Given the description of an element on the screen output the (x, y) to click on. 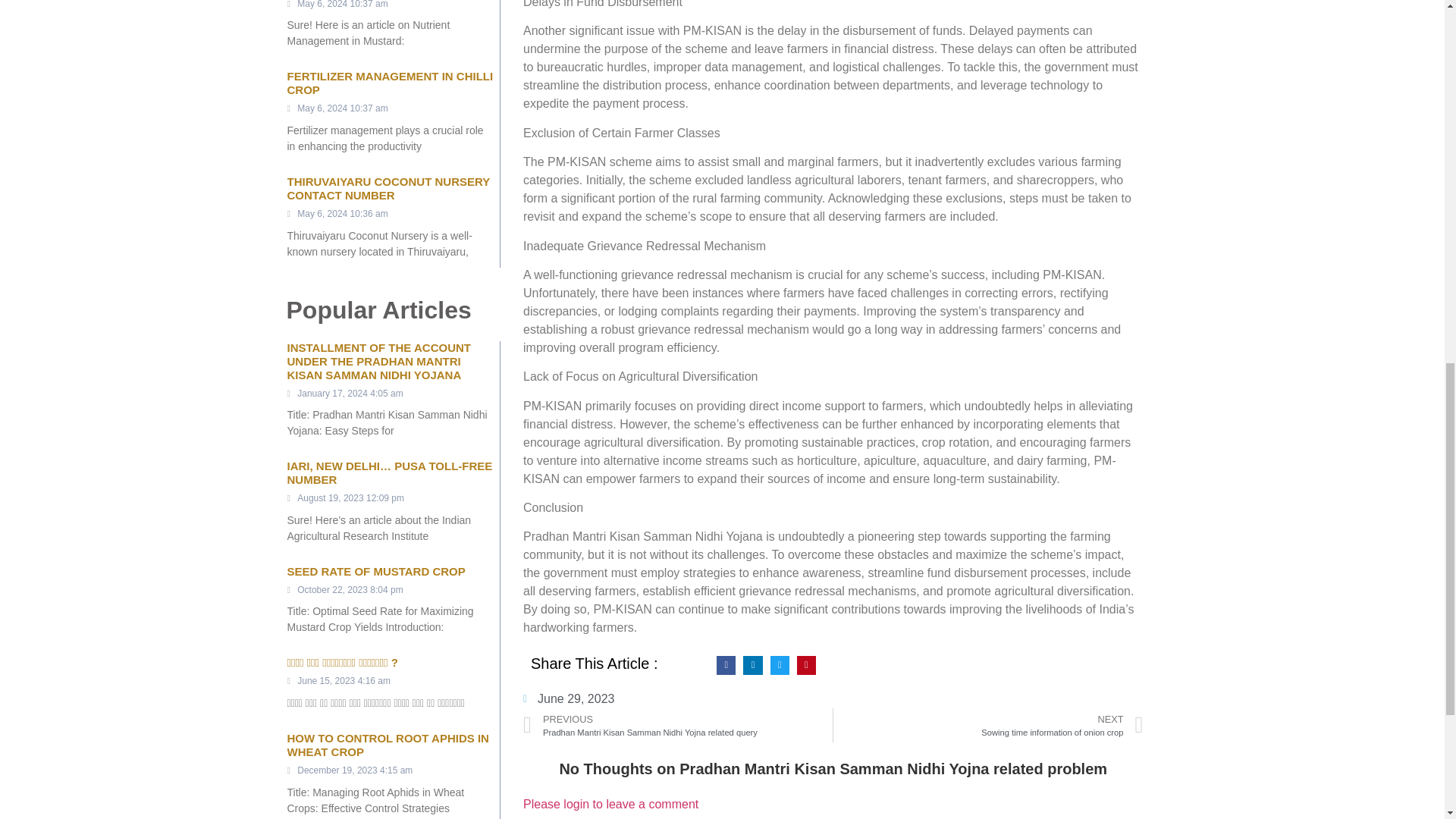
SEED RATE OF MUSTARD CROP (375, 571)
THIRUVAIYARU COCONUT NURSERY CONTACT NUMBER (387, 188)
FERTILIZER MANAGEMENT IN CHILLI CROP (987, 725)
HOW TO CONTROL ROOT APHIDS IN WHEAT CROP (389, 82)
Please login to leave a comment (386, 745)
June 29, 2023 (610, 803)
